Given the description of an element on the screen output the (x, y) to click on. 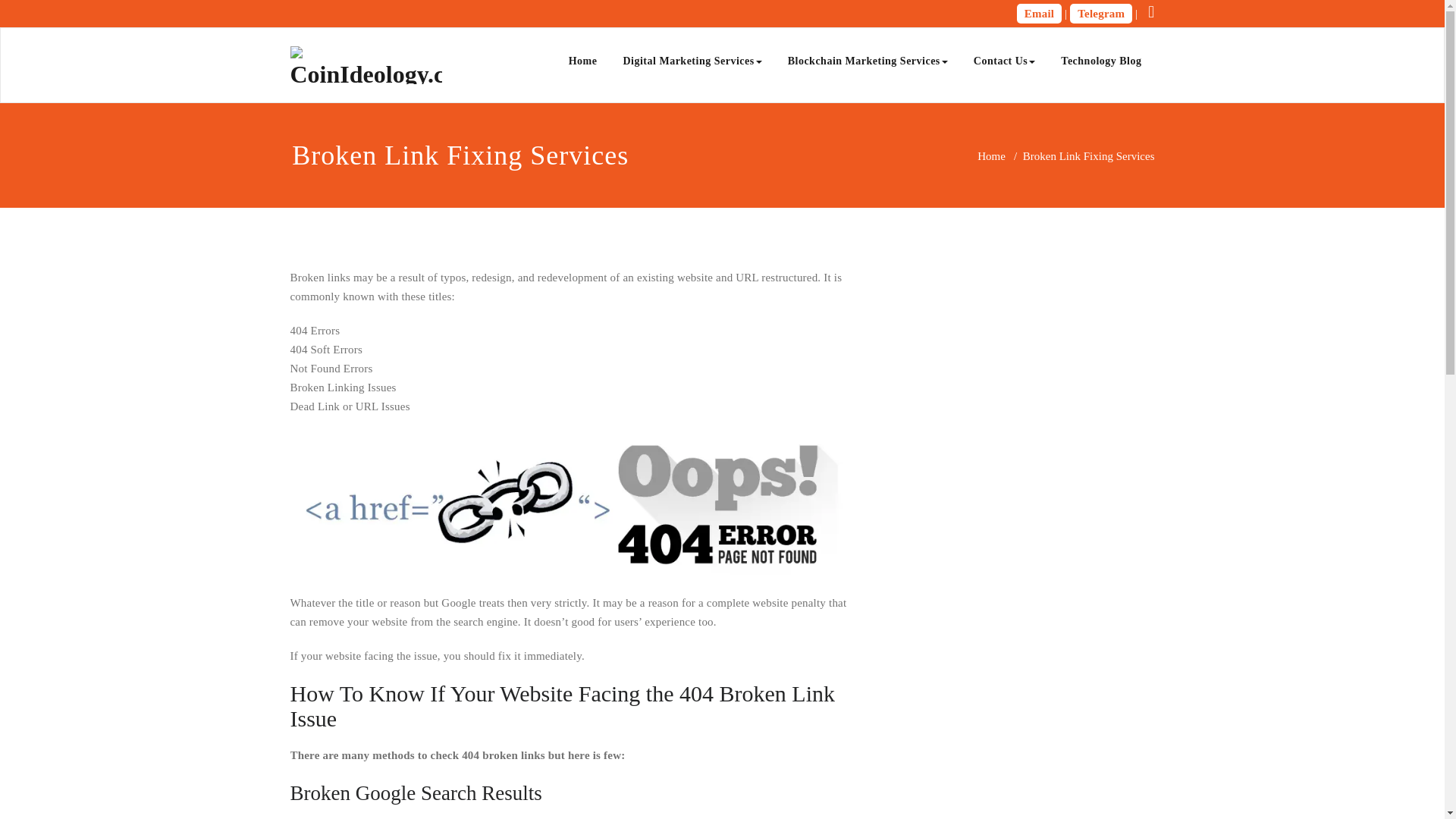
Telegram (1101, 13)
CoinIdeology.com (572, 72)
Digital Marketing Services (692, 61)
Home (583, 61)
Email (1038, 13)
Blockchain Marketing Services (867, 61)
